Given the description of an element on the screen output the (x, y) to click on. 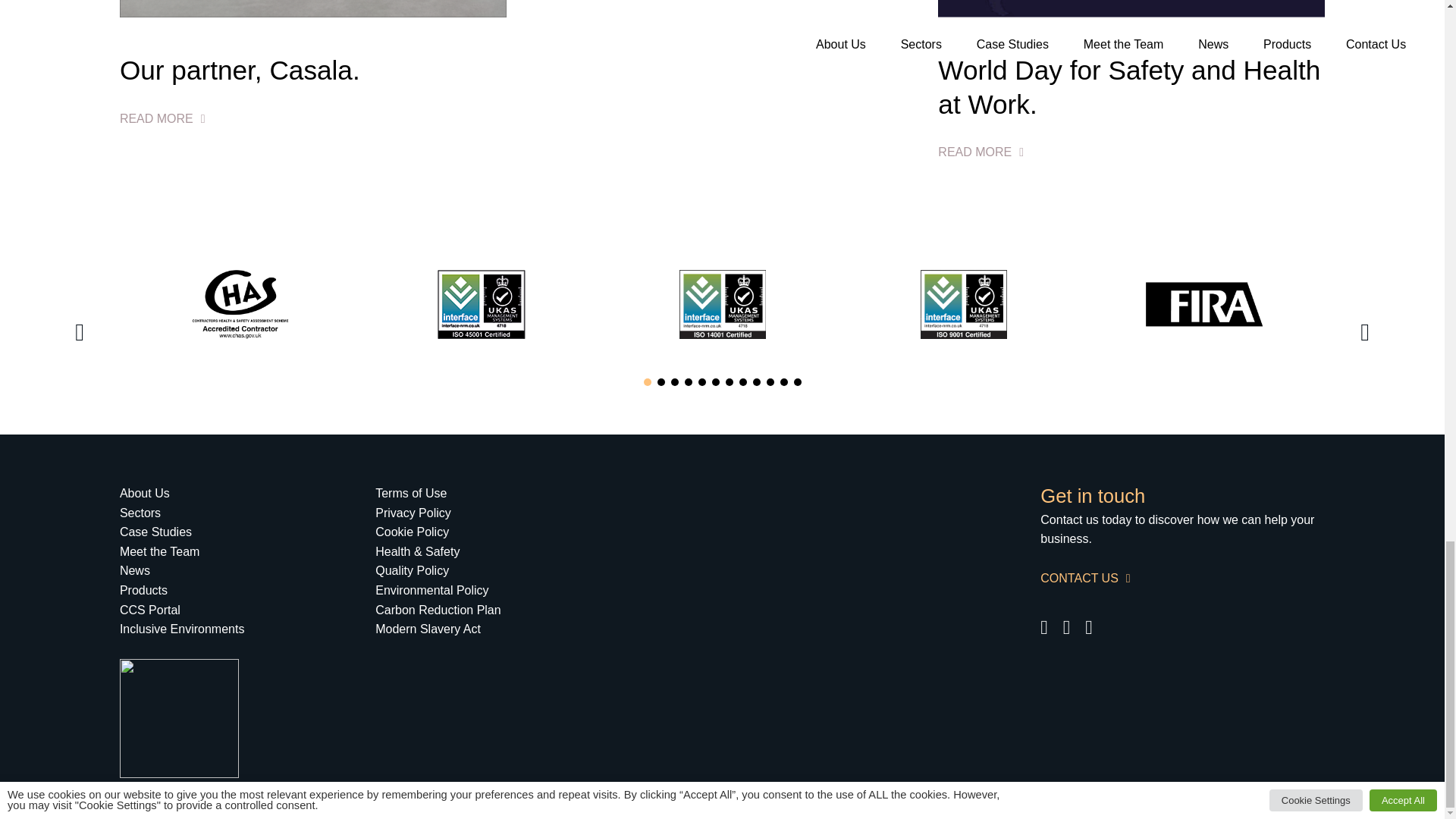
READ MORE (162, 118)
12 (796, 381)
6 (715, 381)
11 (782, 381)
5 (700, 381)
9 (756, 381)
7 (728, 381)
World Day for Safety and Health at Work. (1130, 106)
8 (741, 381)
About Us (144, 492)
